Given the description of an element on the screen output the (x, y) to click on. 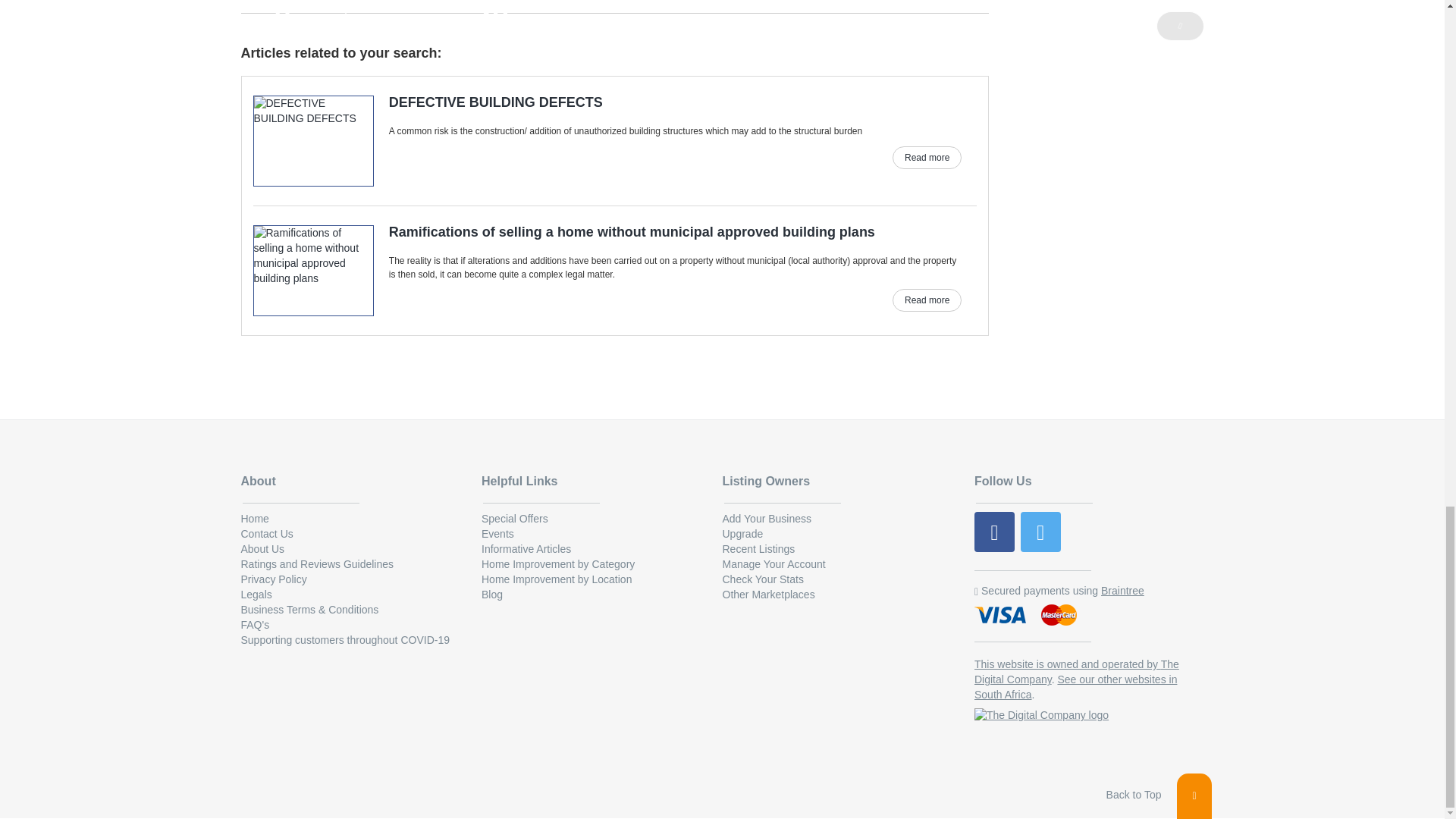
Visa (1001, 615)
MasterCard (1059, 615)
DEFECTIVE BUILDING DEFECTS (607, 102)
